Given the description of an element on the screen output the (x, y) to click on. 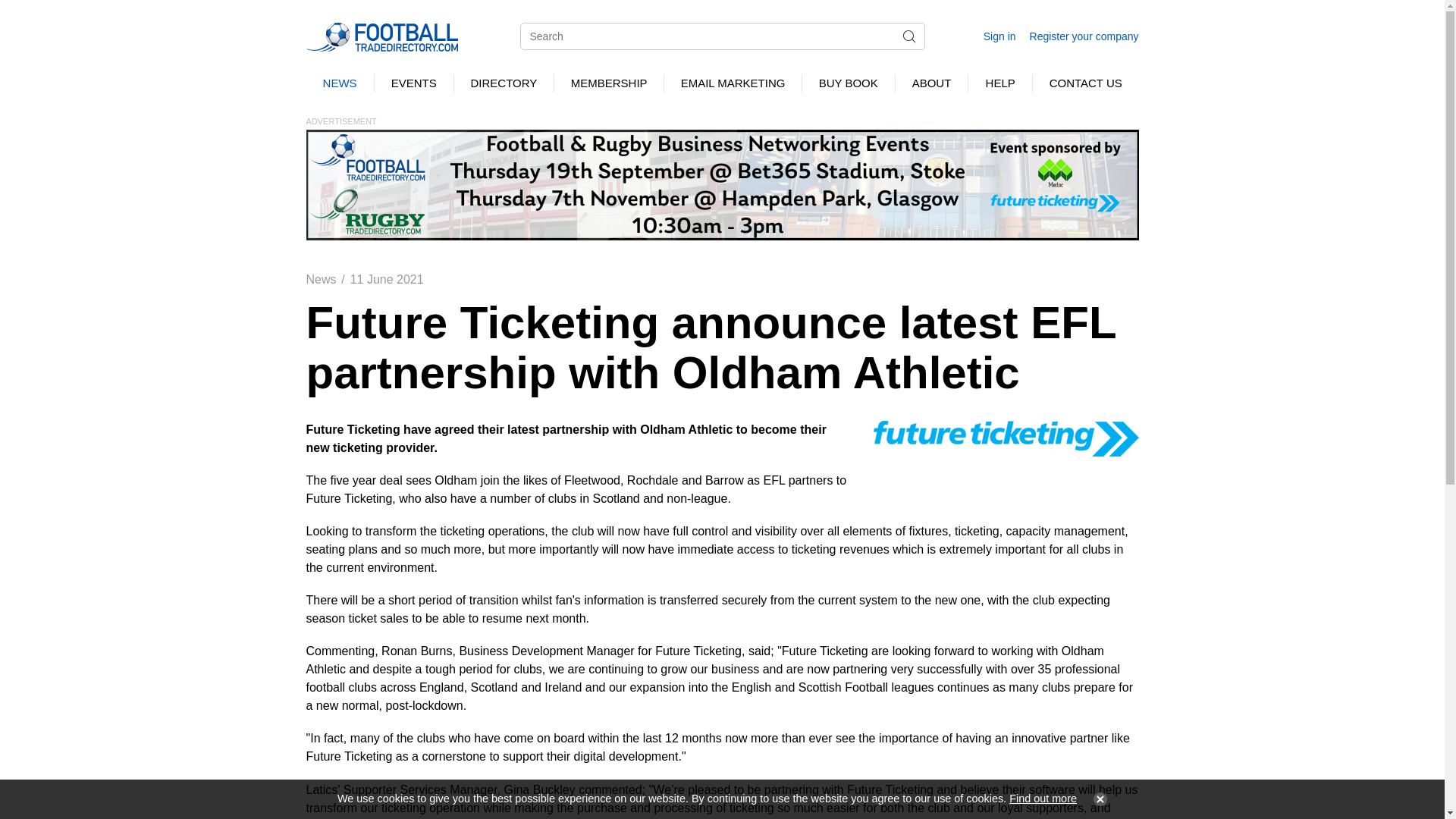
2024 events (721, 183)
EVENTS (413, 83)
NEWS (339, 83)
DIRECTORY (503, 83)
Continue (1096, 799)
Future ticketing 2019 (1005, 438)
Search (908, 36)
Register your company (1083, 35)
